Given the description of an element on the screen output the (x, y) to click on. 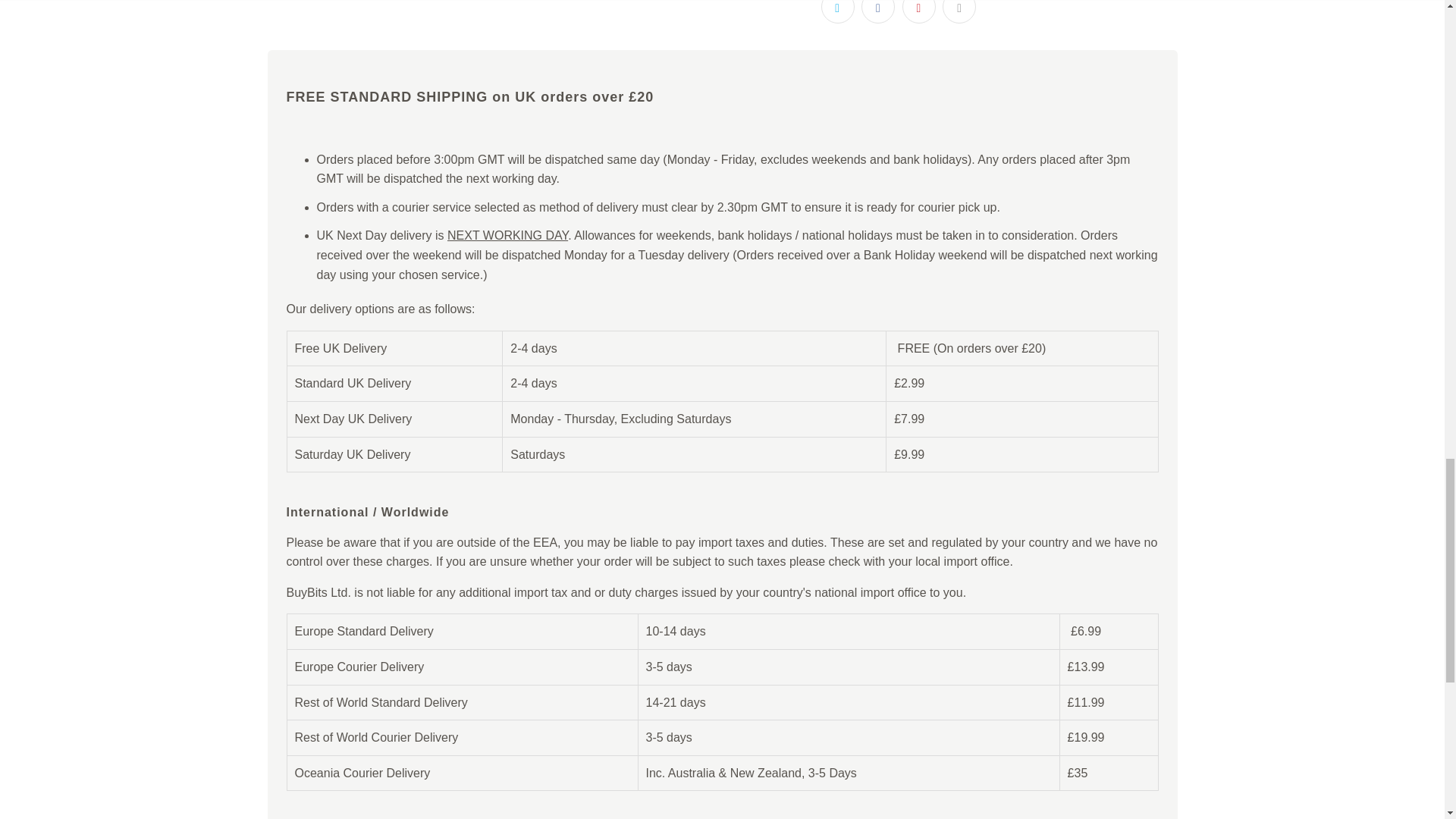
Share this on Pinterest (919, 11)
Share this on Twitter (837, 11)
Share this on Facebook (878, 11)
Email this to a friend (958, 11)
